Given the description of an element on the screen output the (x, y) to click on. 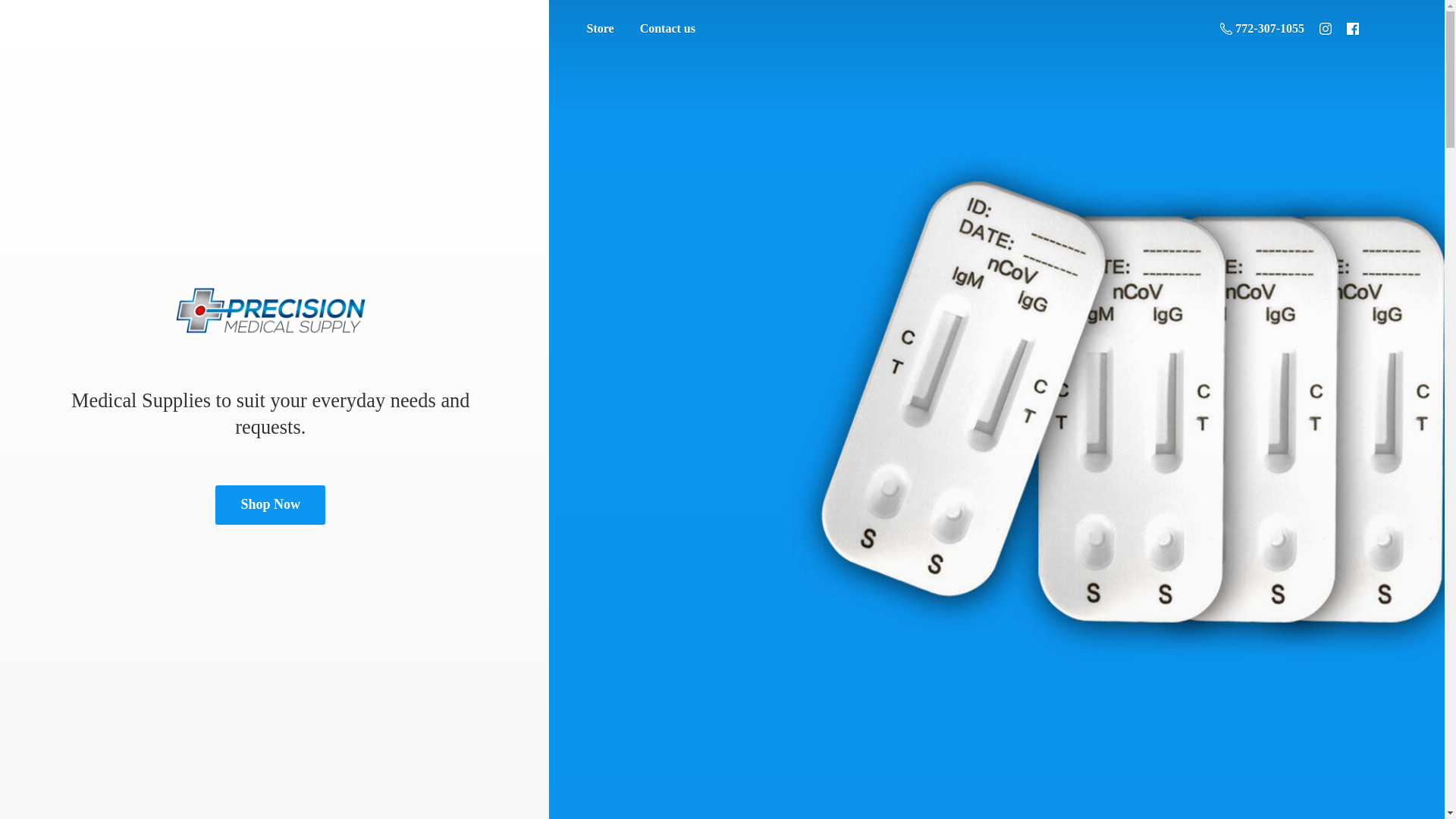
Shop Now (269, 504)
772-307-1055 (1261, 28)
Store (599, 29)
Contact us (667, 29)
